Given the description of an element on the screen output the (x, y) to click on. 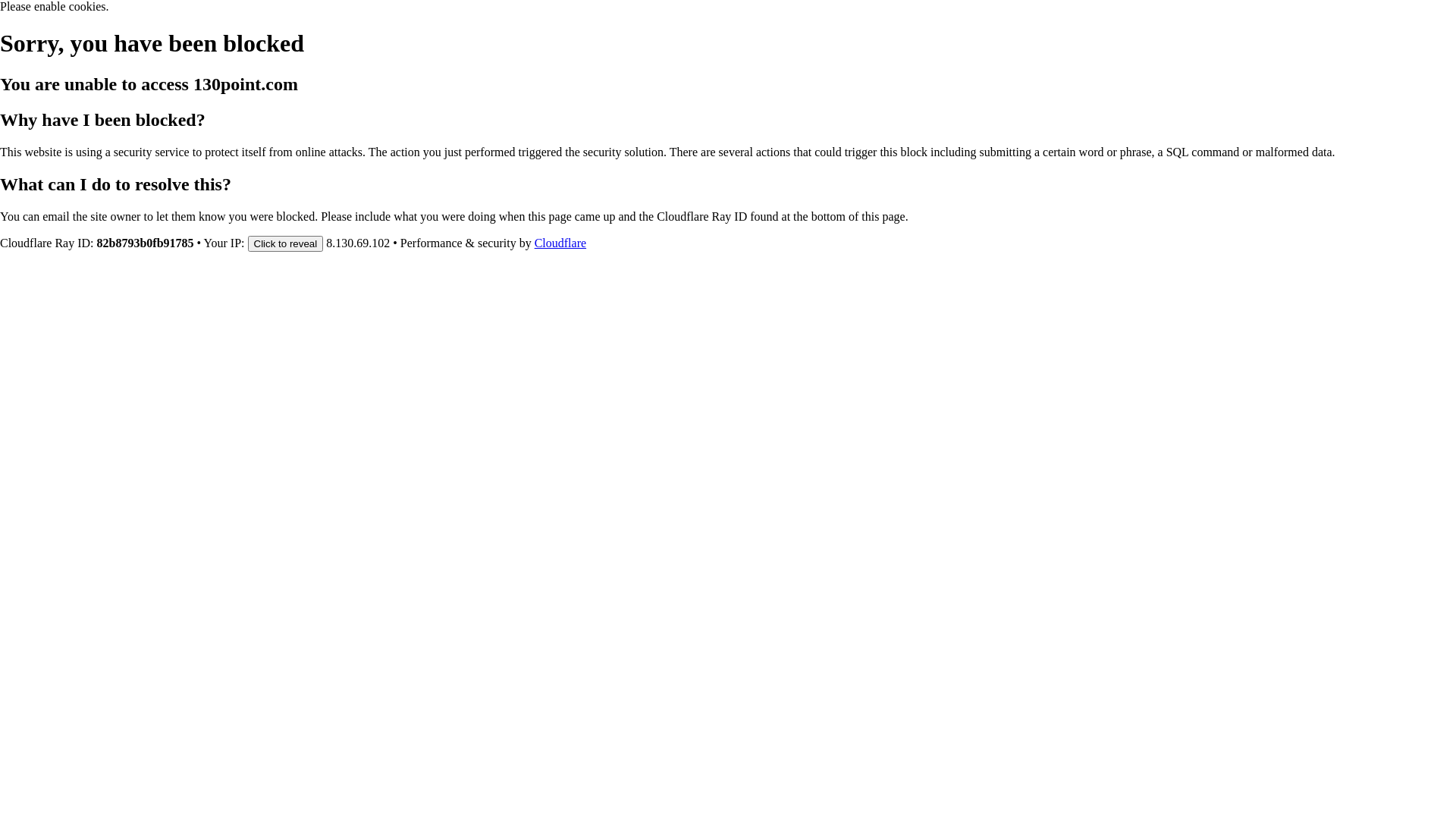
Cloudflare Element type: text (560, 242)
Click to reveal Element type: text (285, 243)
